Given the description of an element on the screen output the (x, y) to click on. 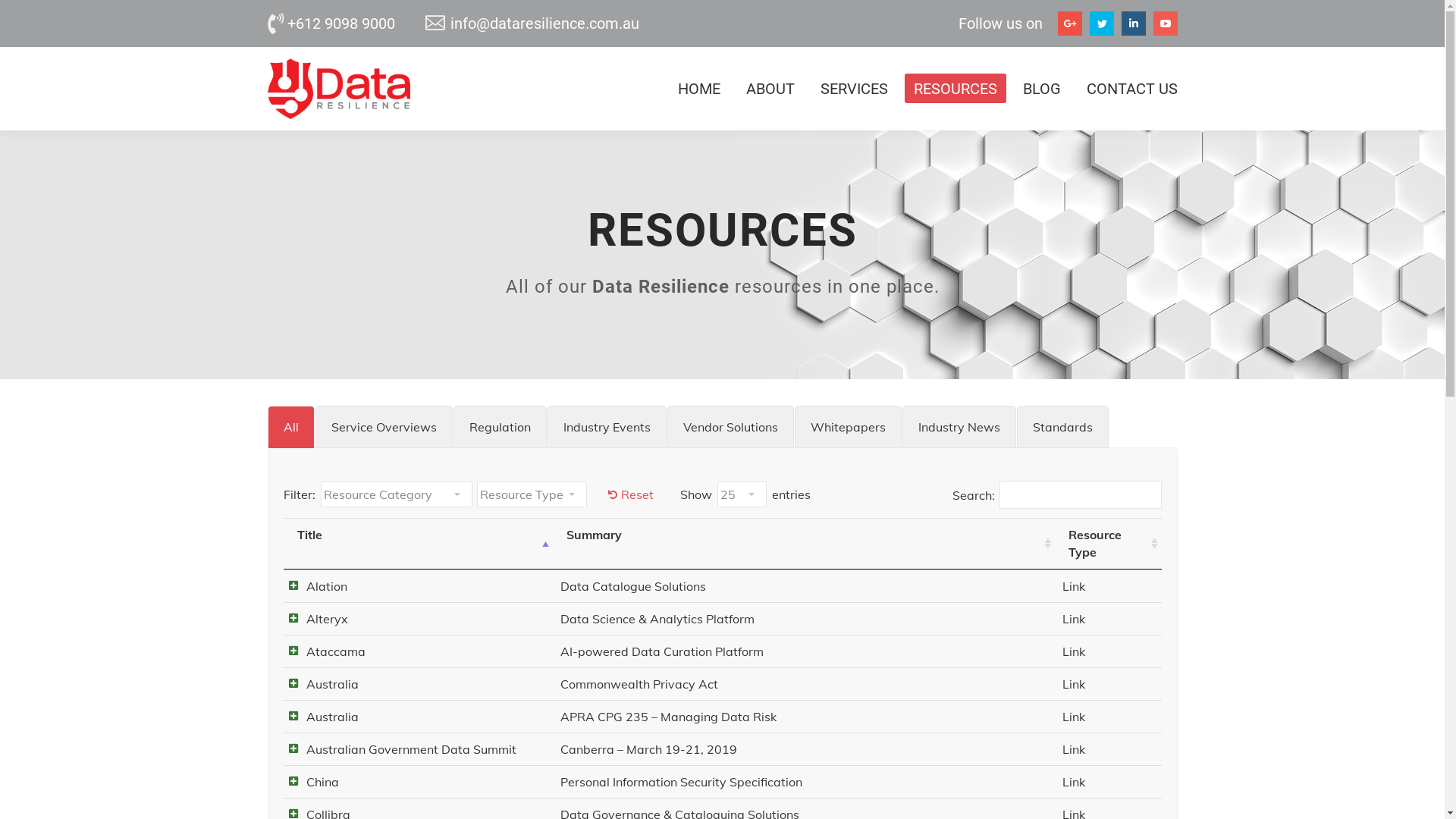
Linkedin Element type: text (1132, 23)
Standards Element type: text (1061, 426)
CONTACT US Element type: text (1126, 88)
All Element type: text (289, 426)
Whitepapers Element type: text (847, 426)
HOME Element type: text (698, 88)
Reset Element type: text (630, 494)
Industry News Element type: text (959, 426)
Google+ Element type: text (1069, 23)
RESOURCES Element type: text (954, 88)
Regulation Element type: text (499, 426)
Vendor Solutions Element type: text (730, 426)
Service Overviews Element type: text (383, 426)
ABOUT Element type: text (770, 88)
BLOG Element type: text (1041, 88)
Twitter Element type: text (1100, 23)
Industry Events Element type: text (606, 426)
SERVICES Element type: text (854, 88)
YouTube Element type: text (1164, 23)
